Given the description of an element on the screen output the (x, y) to click on. 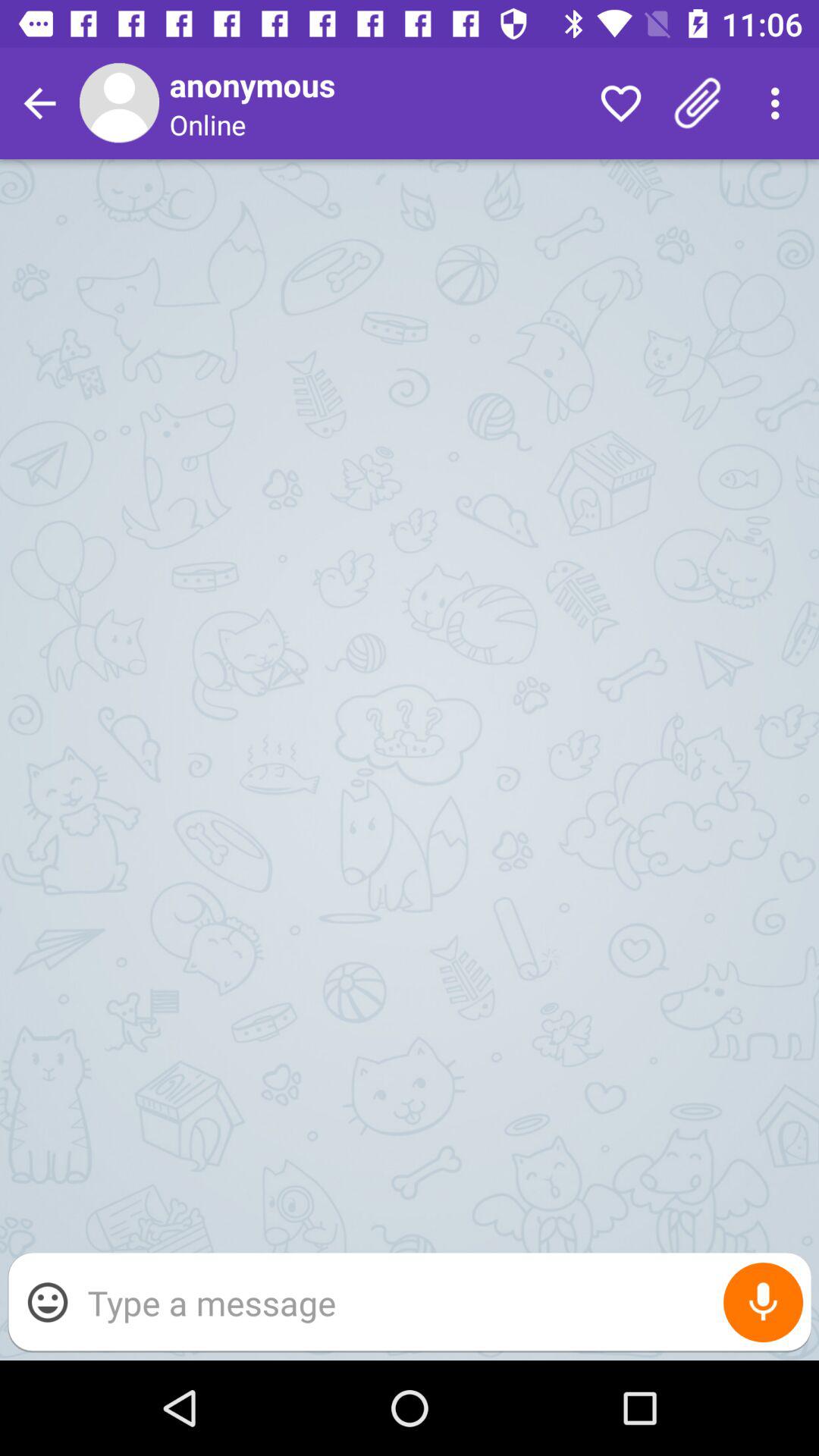
open emoji list (47, 1302)
